Given the description of an element on the screen output the (x, y) to click on. 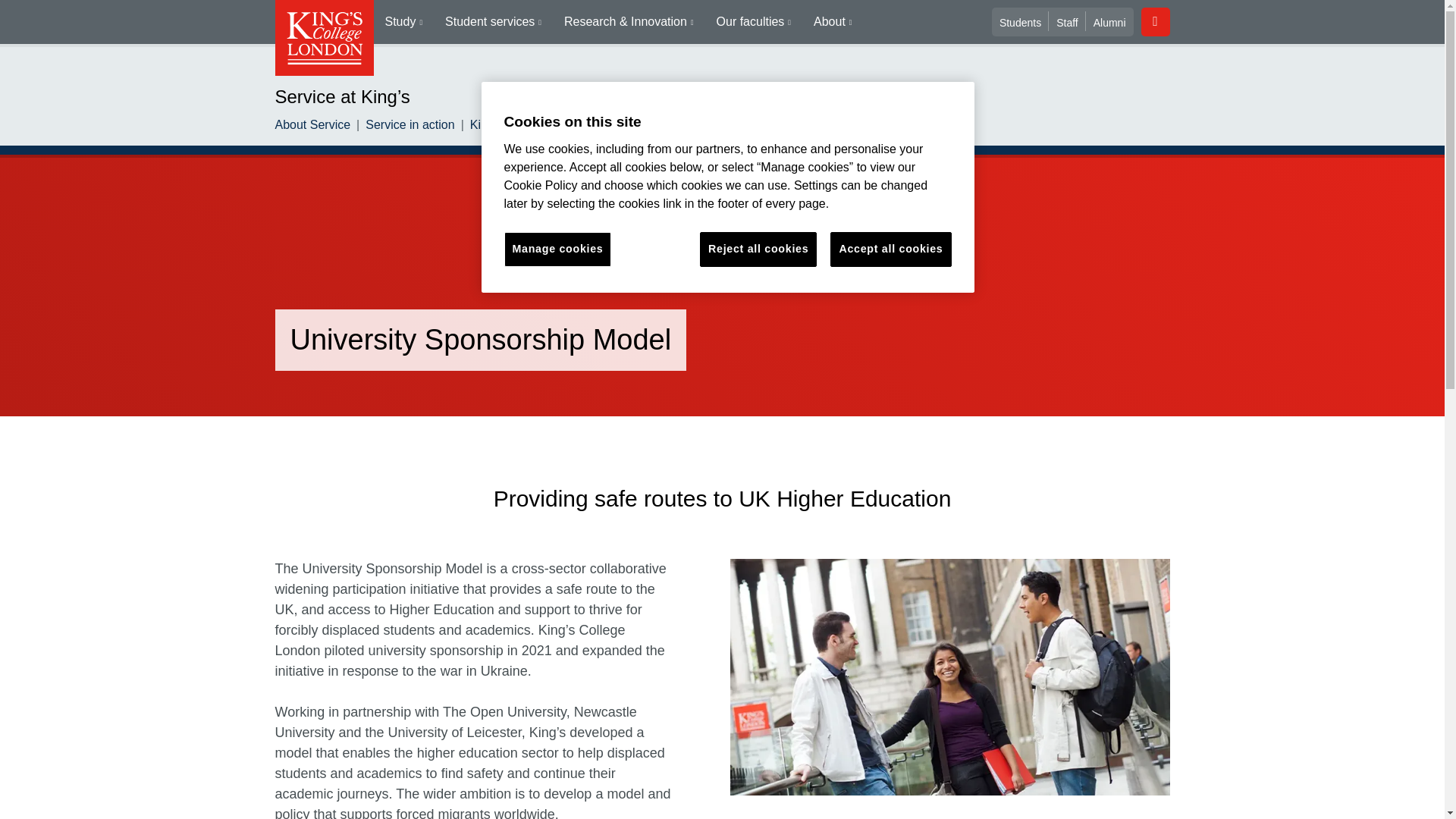
Student services (493, 22)
Our faculties (753, 22)
Study (402, 22)
Study (402, 22)
King's College London (323, 38)
King's College London - Back to homepage (323, 38)
Student services (493, 22)
